Given the description of an element on the screen output the (x, y) to click on. 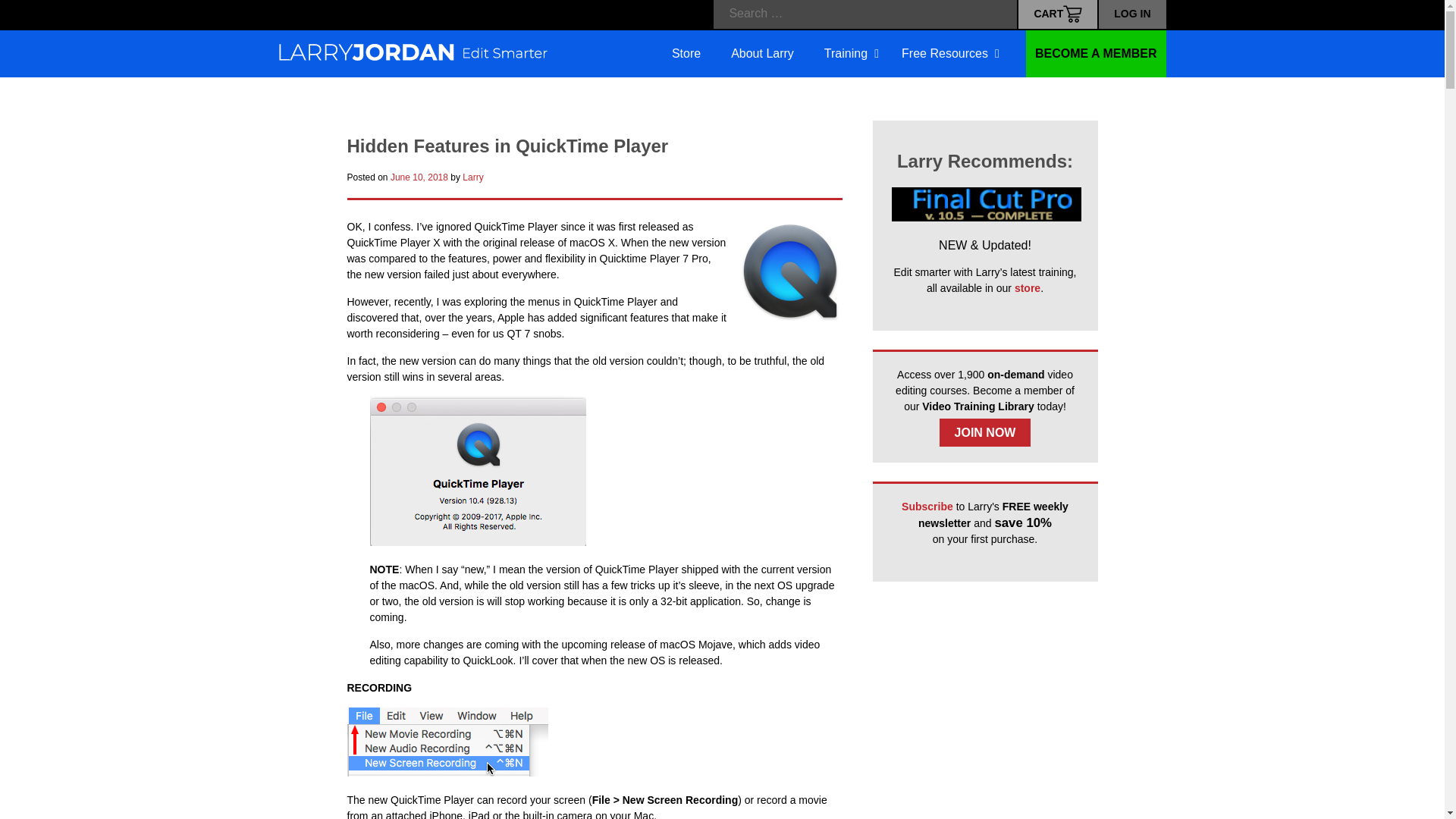
Larry (473, 176)
Store (686, 54)
LOG IN (1132, 14)
CART (1057, 14)
2:01 pm (419, 176)
June 10, 2018 (419, 176)
Become a Member (984, 432)
View all posts by Larry (473, 176)
Join LJA Mail List (831, 54)
Become a Member (927, 506)
Log In (1096, 53)
About Larry (1132, 14)
Free Resources (762, 54)
Training (946, 54)
